Given the description of an element on the screen output the (x, y) to click on. 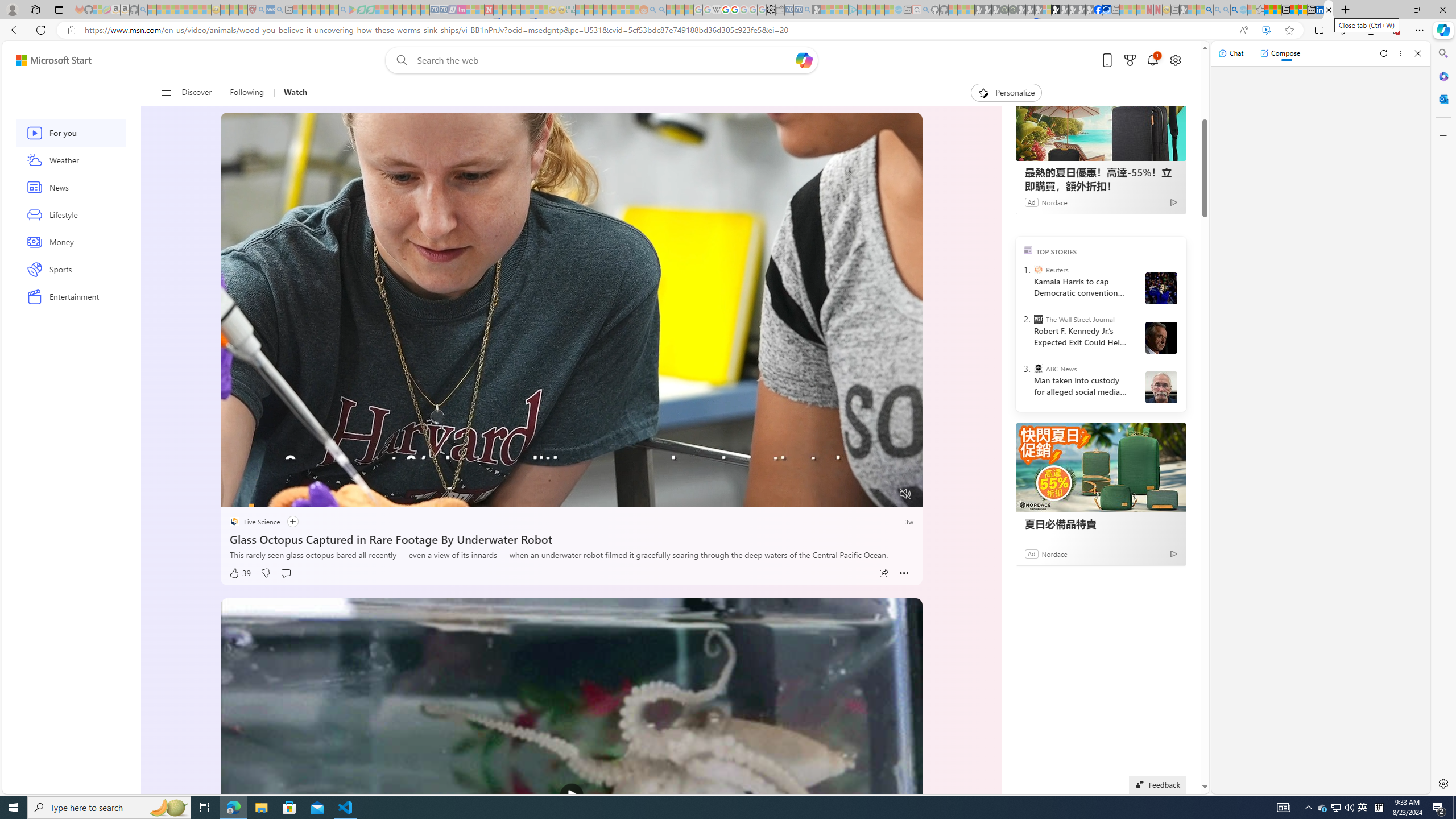
Quality Settings (838, 493)
